Given the description of an element on the screen output the (x, y) to click on. 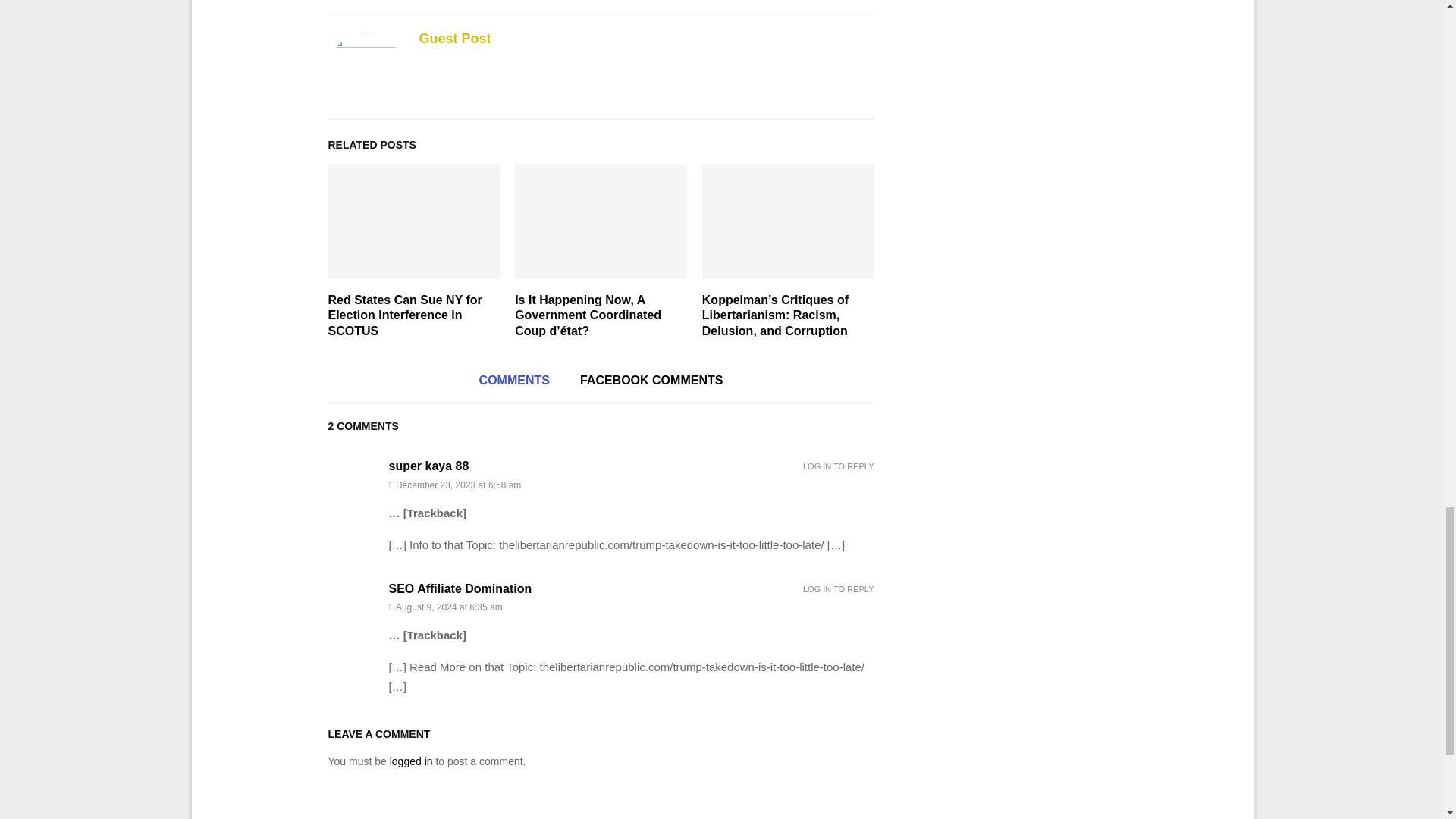
Friday, August 9, 2024, 6:35 am (630, 607)
Posts by Guest Post (454, 38)
Saturday, December 23, 2023, 6:58 am (630, 485)
